Given the description of an element on the screen output the (x, y) to click on. 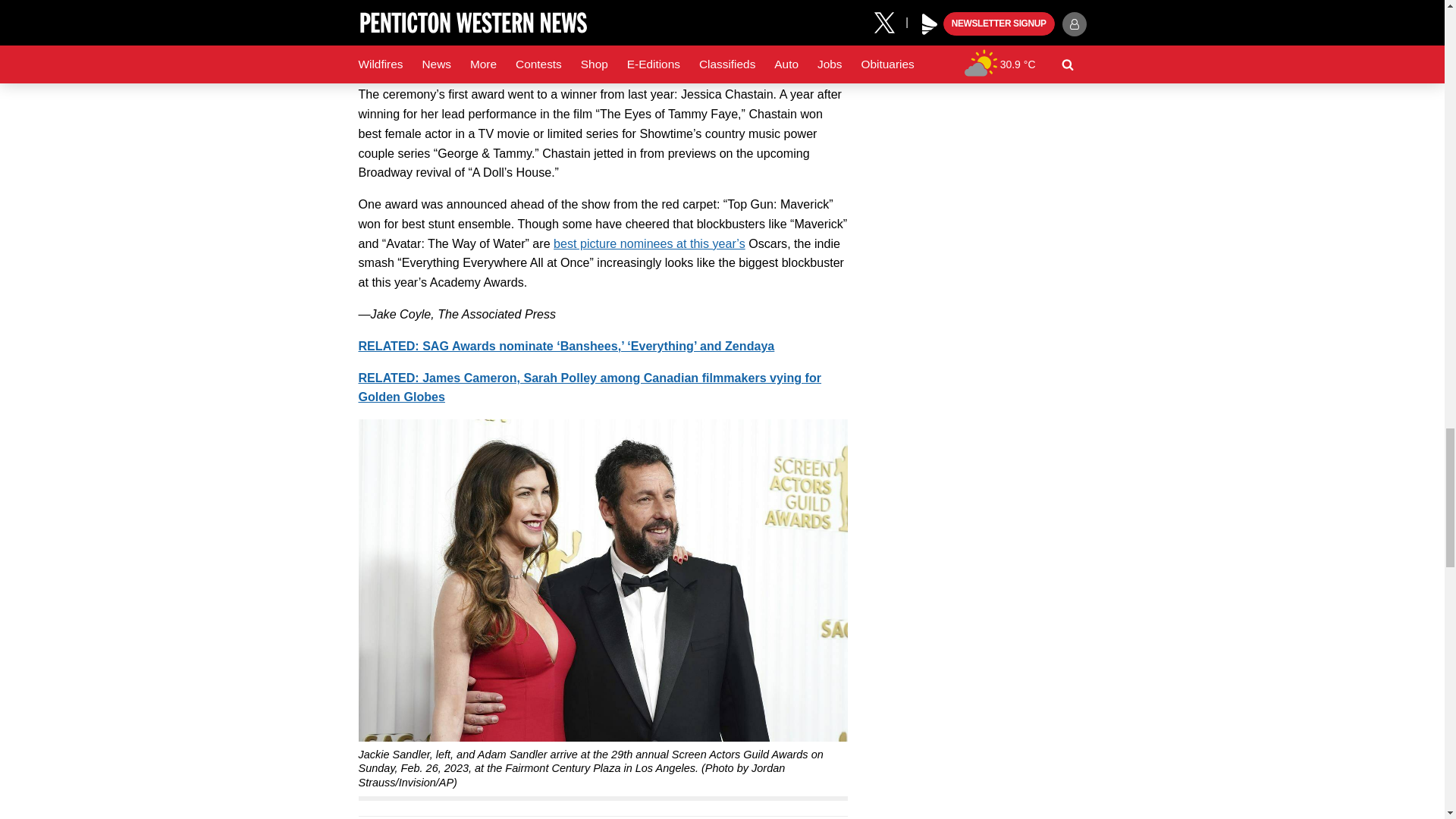
related story (589, 387)
related story (566, 345)
